Given the description of an element on the screen output the (x, y) to click on. 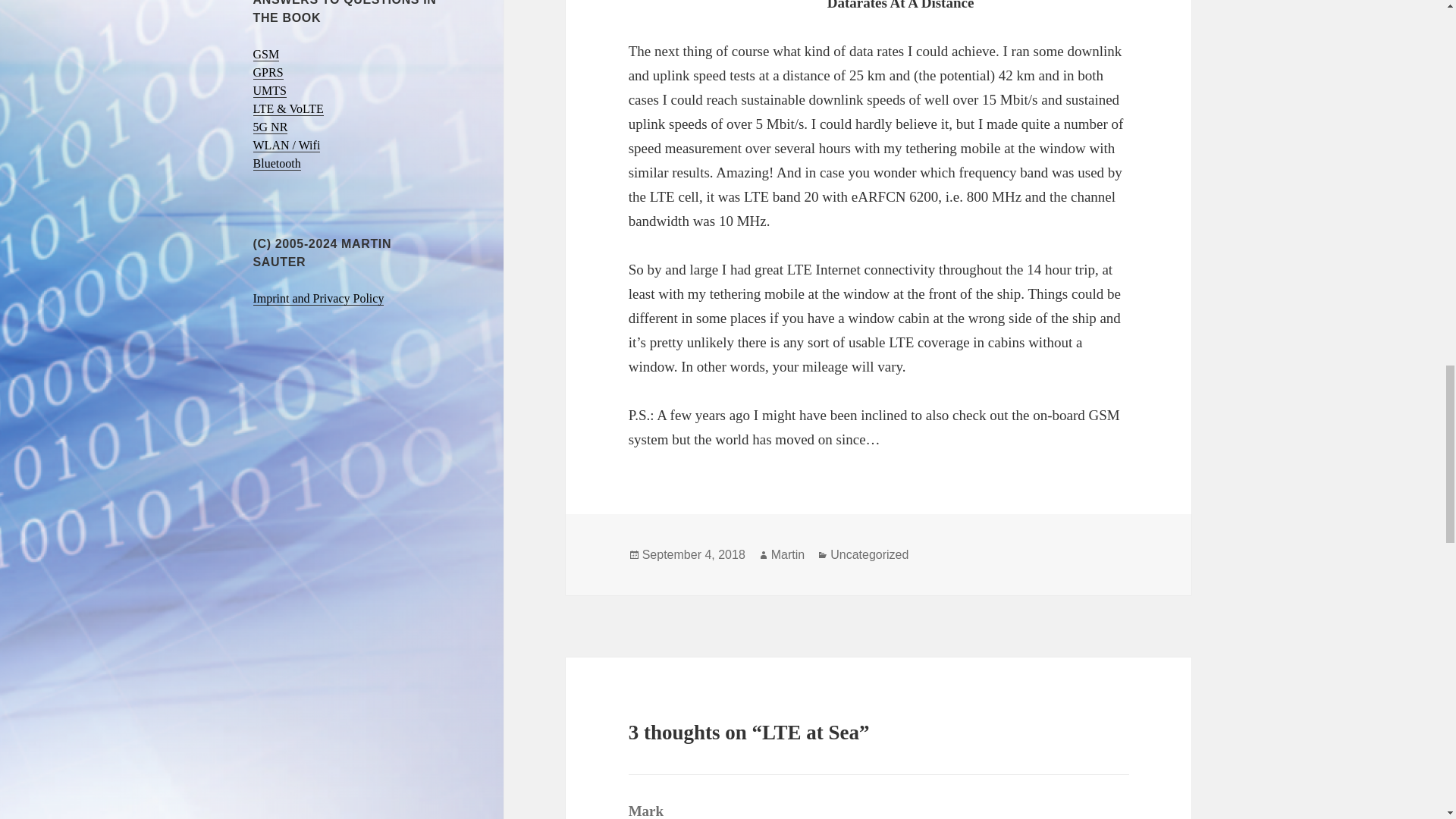
UMTS (269, 90)
Uncategorized (868, 554)
September 4, 2018 (693, 554)
Martin (788, 554)
5G NR (270, 127)
GPRS (268, 72)
GSM (266, 54)
Bluetooth (277, 163)
Imprint and Privacy Policy (318, 298)
